Given the description of an element on the screen output the (x, y) to click on. 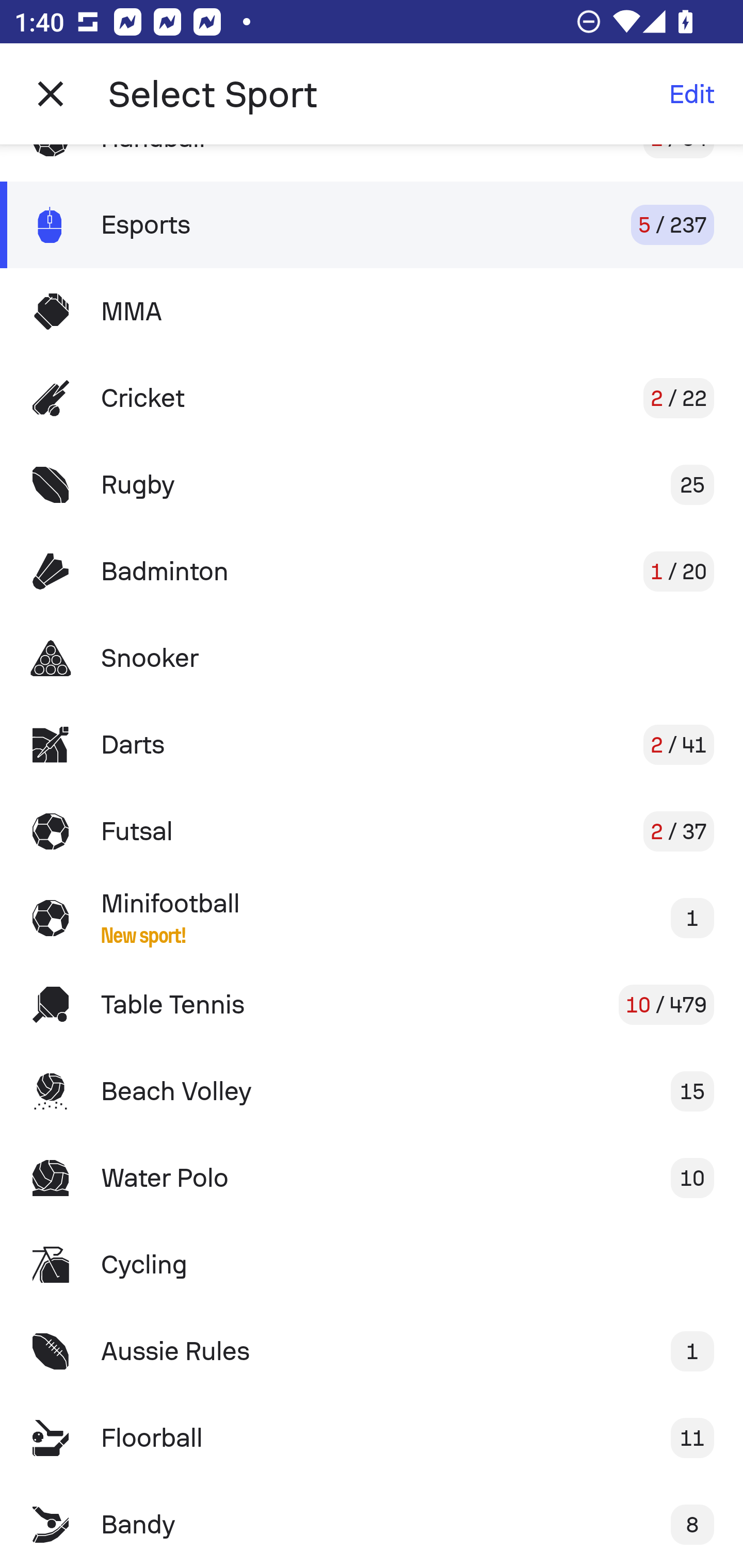
Edit (691, 93)
Esports 5 / 237 (371, 224)
MMA (371, 311)
Cricket 2 / 22 (371, 398)
Rugby 25 (371, 485)
Badminton 1 / 20 (371, 571)
Snooker (371, 657)
Darts 2 / 41 (371, 744)
Futsal 2 / 37 (371, 831)
Minifootball New sport! 1 (371, 917)
Table Tennis 10 / 479 (371, 1004)
Beach Volley 15 (371, 1091)
Water Polo 10 (371, 1178)
Cycling (371, 1264)
Aussie Rules 1 (371, 1350)
Floorball 11 (371, 1437)
Bandy 8 (371, 1524)
